Given the description of an element on the screen output the (x, y) to click on. 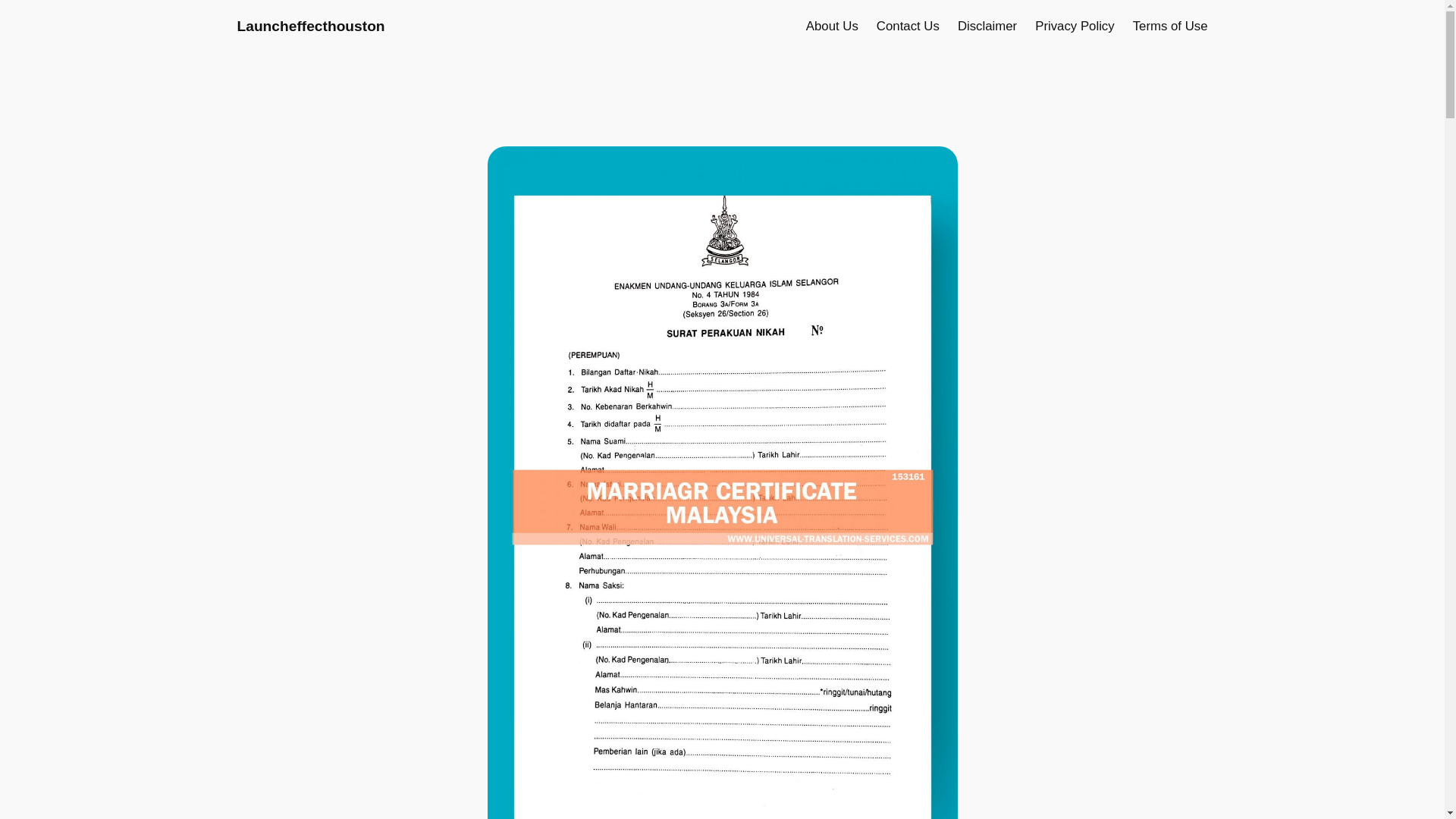
Launcheffecthouston (309, 26)
Disclaimer (987, 26)
About Us (832, 26)
Terms of Use (1170, 26)
Privacy Policy (1074, 26)
Contact Us (907, 26)
